Given the description of an element on the screen output the (x, y) to click on. 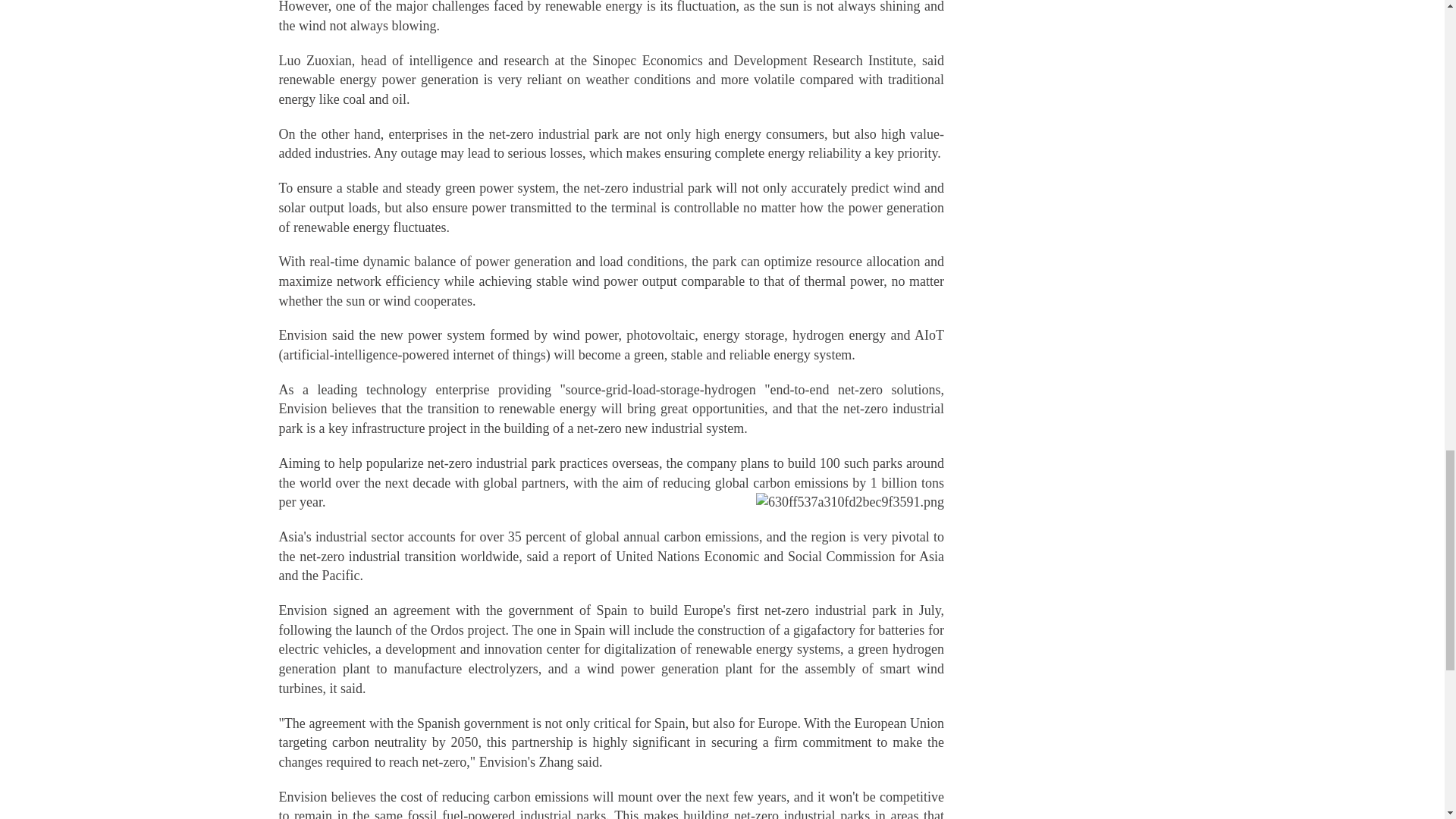
1662082418614244.png (849, 502)
